Given the description of an element on the screen output the (x, y) to click on. 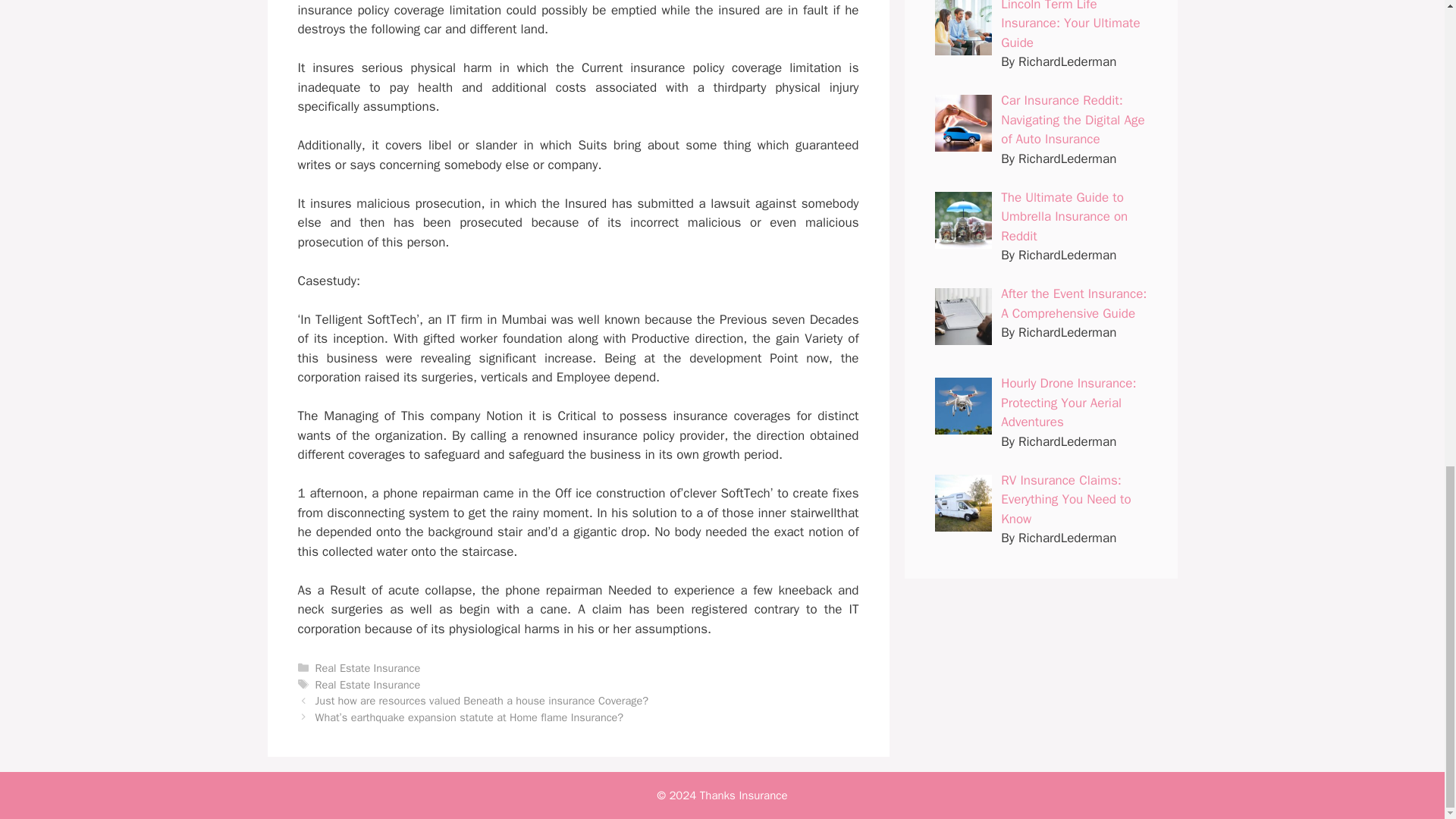
Real Estate Insurance (367, 667)
The Ultimate Guide to Umbrella Insurance on Reddit (1063, 216)
Lincoln Term Life Insurance: Your Ultimate Guide (1070, 24)
RV Insurance Claims: Everything You Need to Know (1066, 499)
After the Event Insurance: A Comprehensive Guide (1074, 303)
Hourly Drone Insurance: Protecting Your Aerial Adventures (1068, 402)
Real Estate Insurance (367, 684)
